Given the description of an element on the screen output the (x, y) to click on. 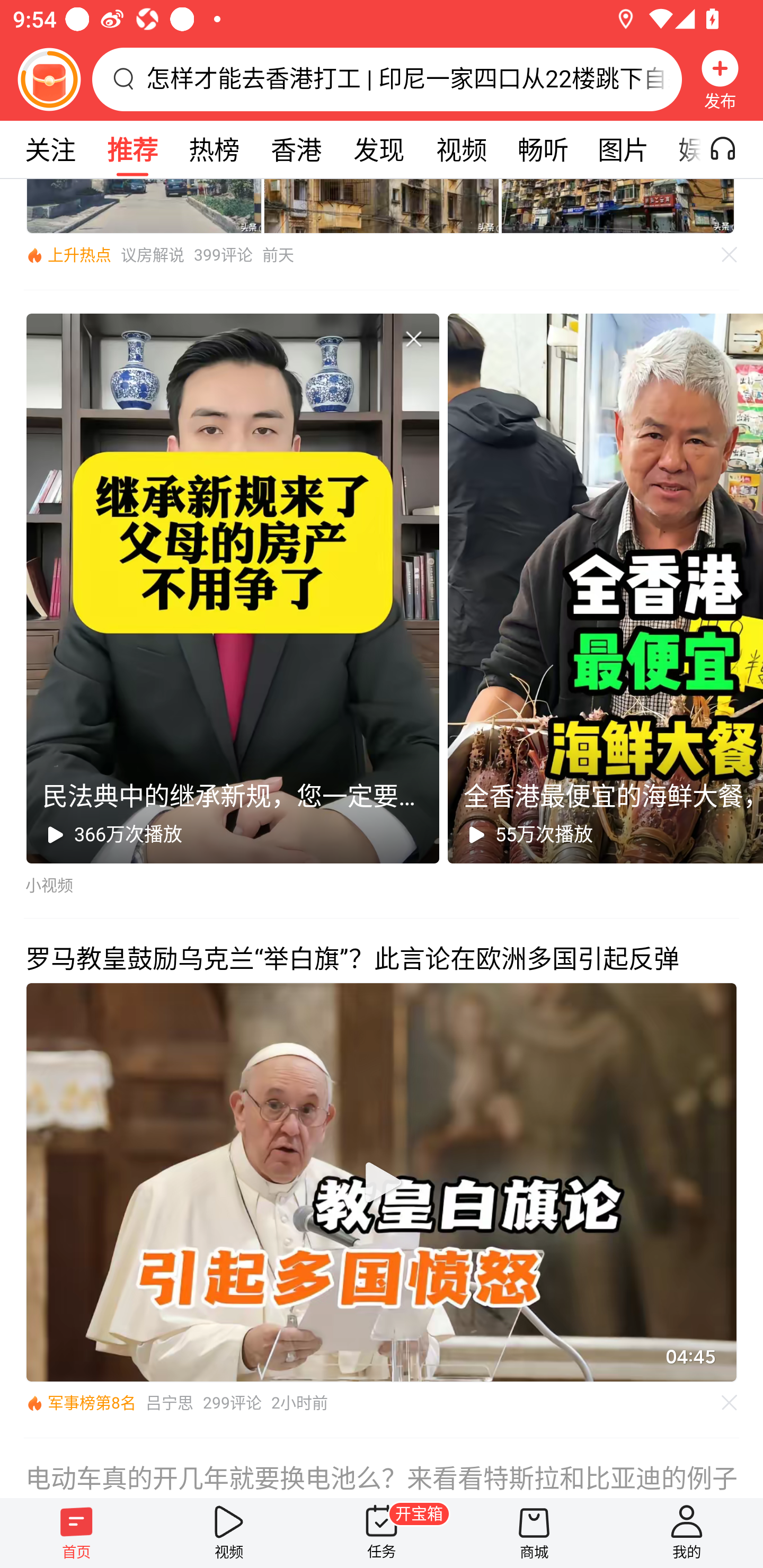
阅读赚金币 (48, 79)
发布 发布，按钮 (720, 78)
关注 (50, 149)
推荐 (132, 149)
热榜 (213, 149)
香港 (295, 149)
发现 (378, 149)
视频 (461, 149)
畅听 (542, 149)
图片 (623, 149)
听一听开关 (732, 149)
不感兴趣 (729, 254)
不感兴趣 (413, 338)
播放视频 视频播放器，双击屏幕打开播放控制 (381, 1181)
播放视频 (381, 1181)
不感兴趣 (729, 1403)
首页 (76, 1532)
视频 (228, 1532)
任务 开宝箱 (381, 1532)
商城 (533, 1532)
我的 (686, 1532)
